Given the description of an element on the screen output the (x, y) to click on. 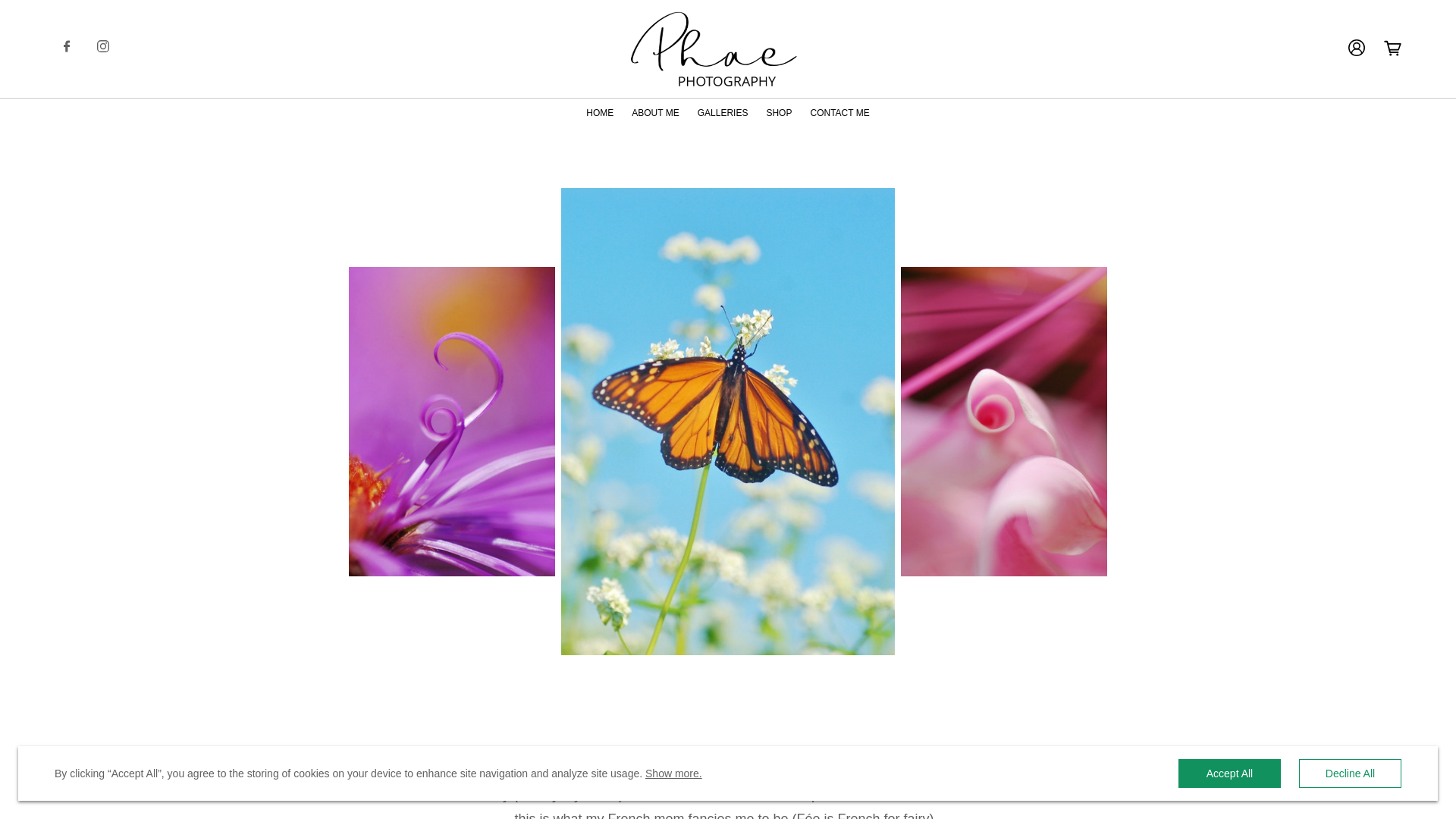
SHOP (778, 112)
CONTACT ME (839, 112)
Accept All (1229, 773)
ABOUT ME (654, 112)
GALLERIES (722, 112)
HOME (599, 112)
Decline All (1349, 773)
